Given the description of an element on the screen output the (x, y) to click on. 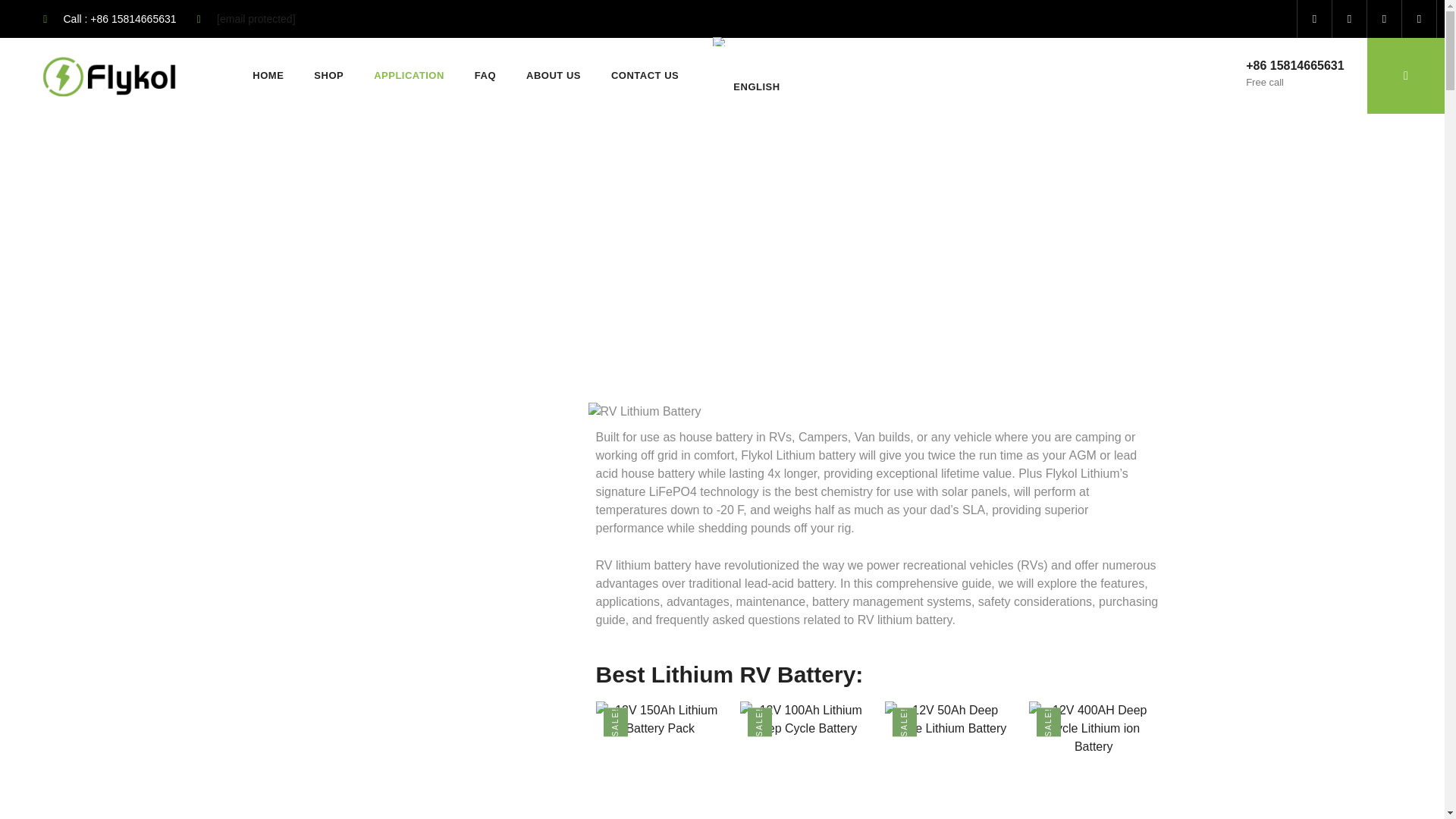
Flykol (296, 249)
Go to Flykol. (296, 249)
ENGLISH (743, 75)
APPLICATION (409, 75)
CONTACT US (644, 75)
English (719, 40)
Go to Services. (350, 249)
Services (350, 249)
Flykol (106, 75)
